Given the description of an element on the screen output the (x, y) to click on. 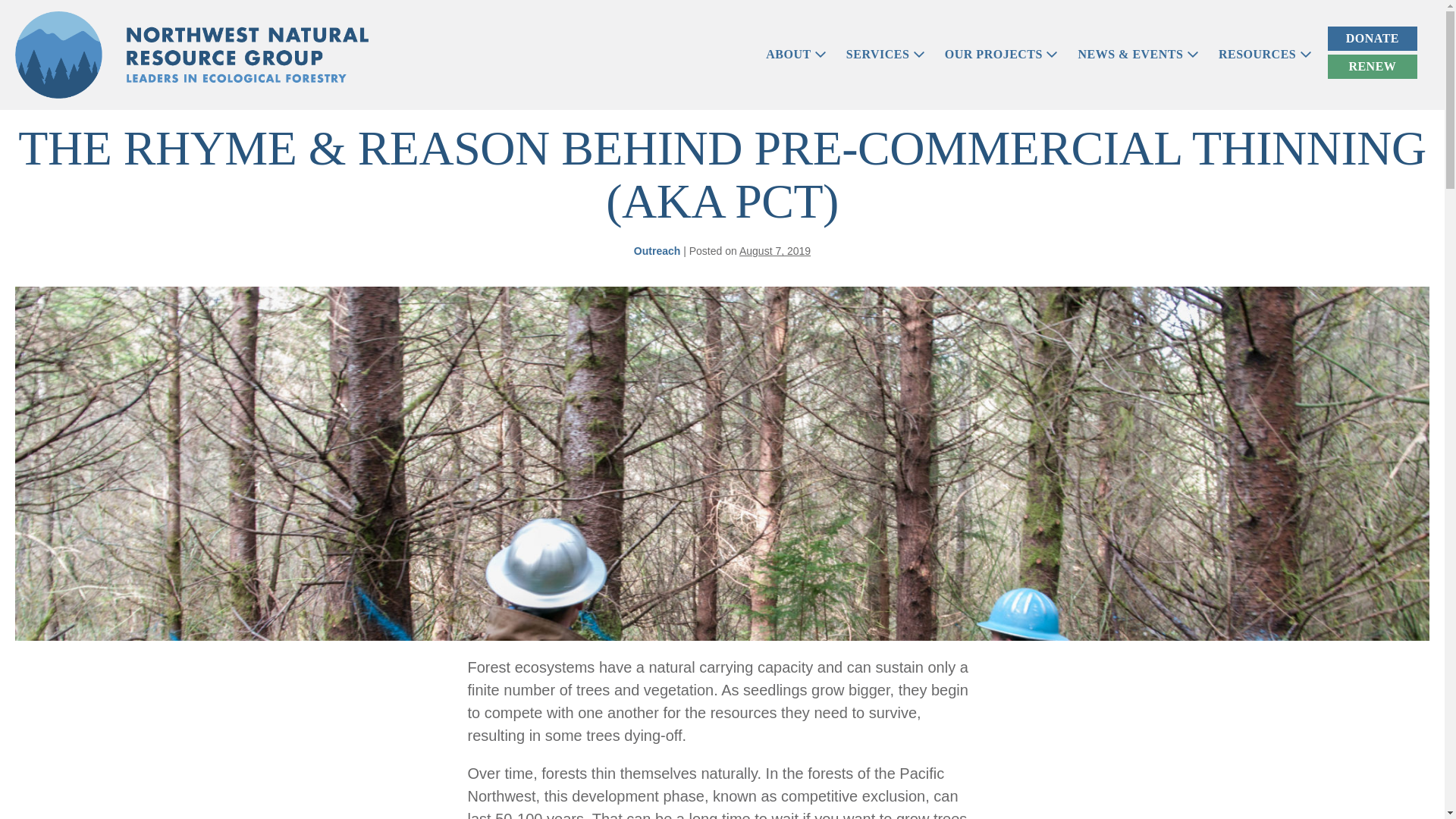
OUR PROJECTS (1001, 54)
Northwest Natural Resource Group (191, 54)
View all posts by Outreach (656, 250)
SERVICES (885, 54)
RESOURCES (1265, 54)
ABOUT (795, 54)
